Given the description of an element on the screen output the (x, y) to click on. 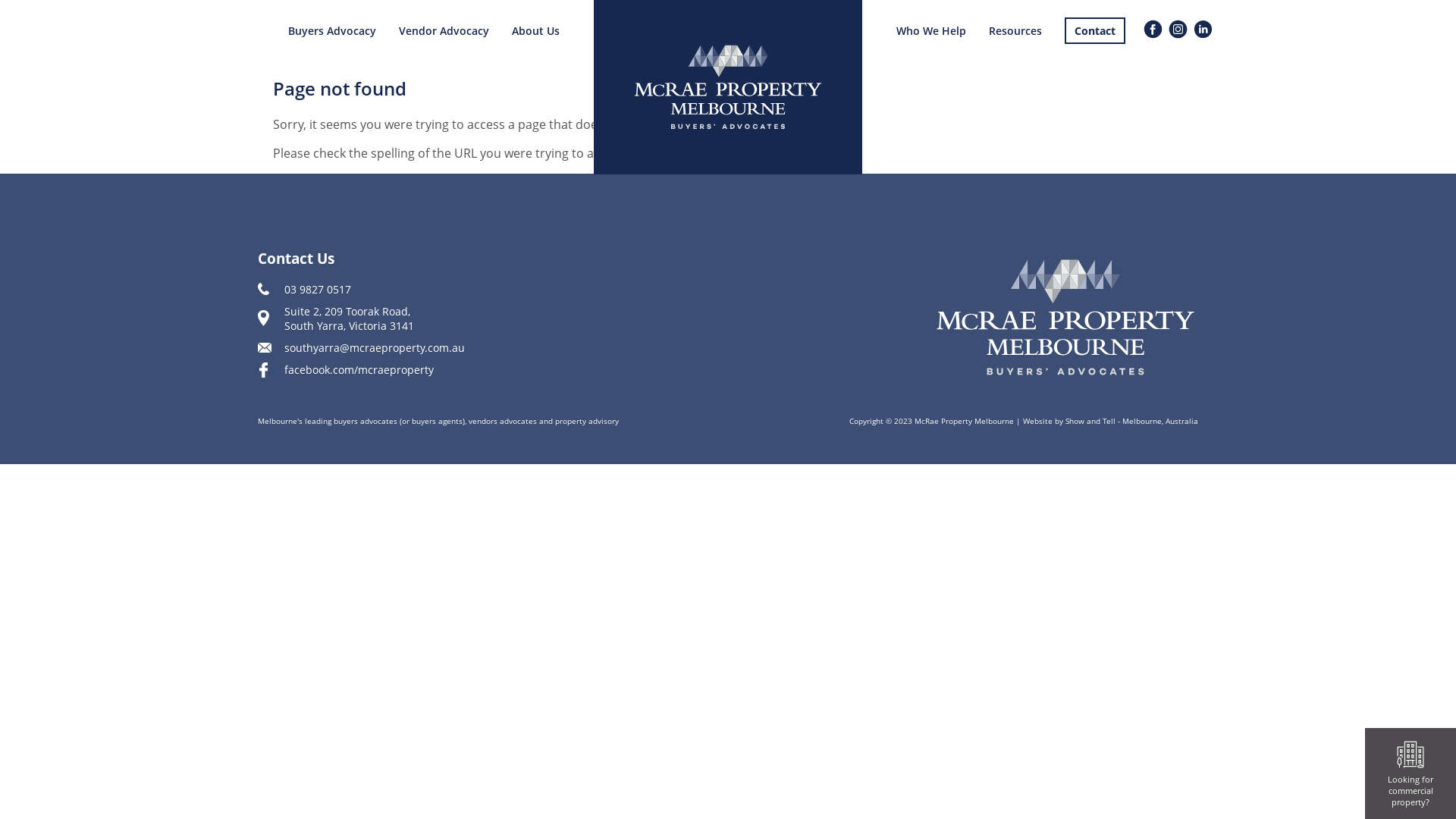
03 9827 0517 Element type: text (355, 289)
Who We Help Element type: text (931, 30)
Buyers Advocacy Element type: text (332, 30)
Newsletters Element type: text (1021, 57)
Links Element type: text (1003, 57)
southyarra@mcraeproperty.com.au Element type: text (360, 347)
Vendor Advocacy Element type: text (443, 30)
Contact Element type: text (1094, 29)
About Us Element type: text (535, 30)
Resources Element type: text (1014, 30)
Suite 2, 209 Toorak Road,
South Yarra, Victoria 3141 Element type: text (355, 318)
facebook.com/mcraeproperty Element type: text (355, 370)
Show and Tell Element type: text (1090, 420)
